Given the description of an element on the screen output the (x, y) to click on. 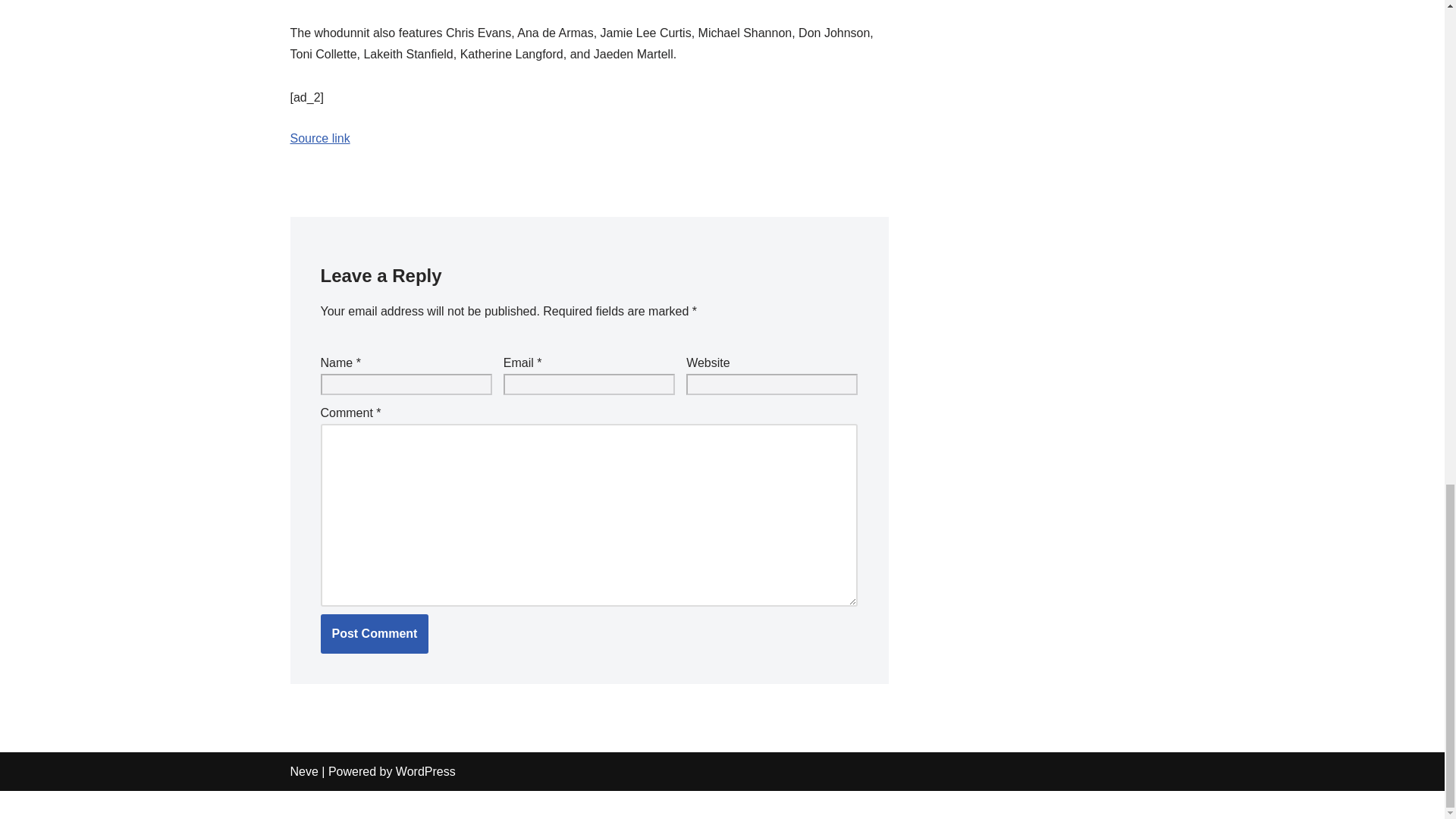
Source link (319, 137)
Post Comment (374, 633)
Post Comment (374, 633)
